Given the description of an element on the screen output the (x, y) to click on. 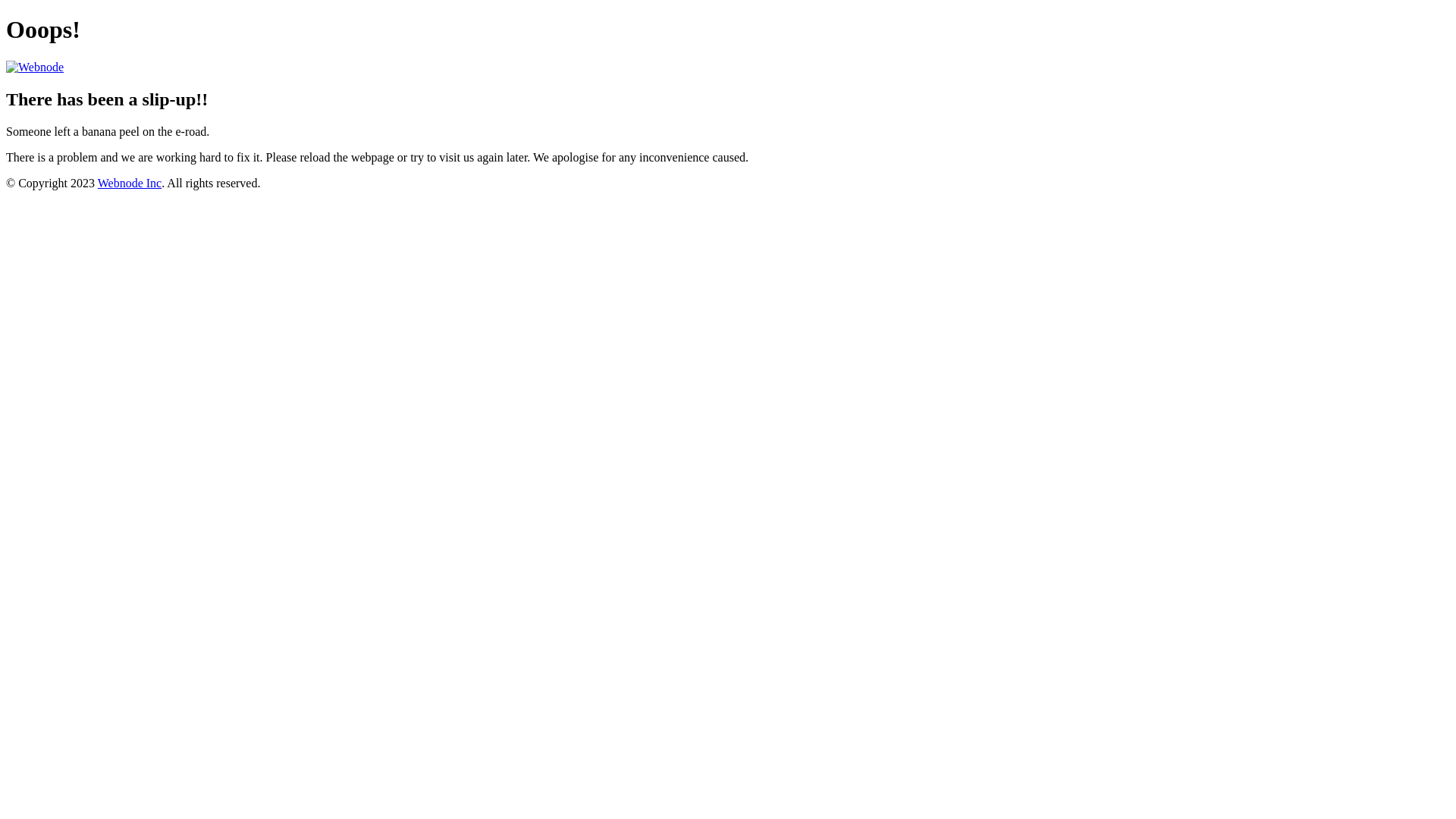
Webnode Inc Element type: text (129, 182)
